Given the description of an element on the screen output the (x, y) to click on. 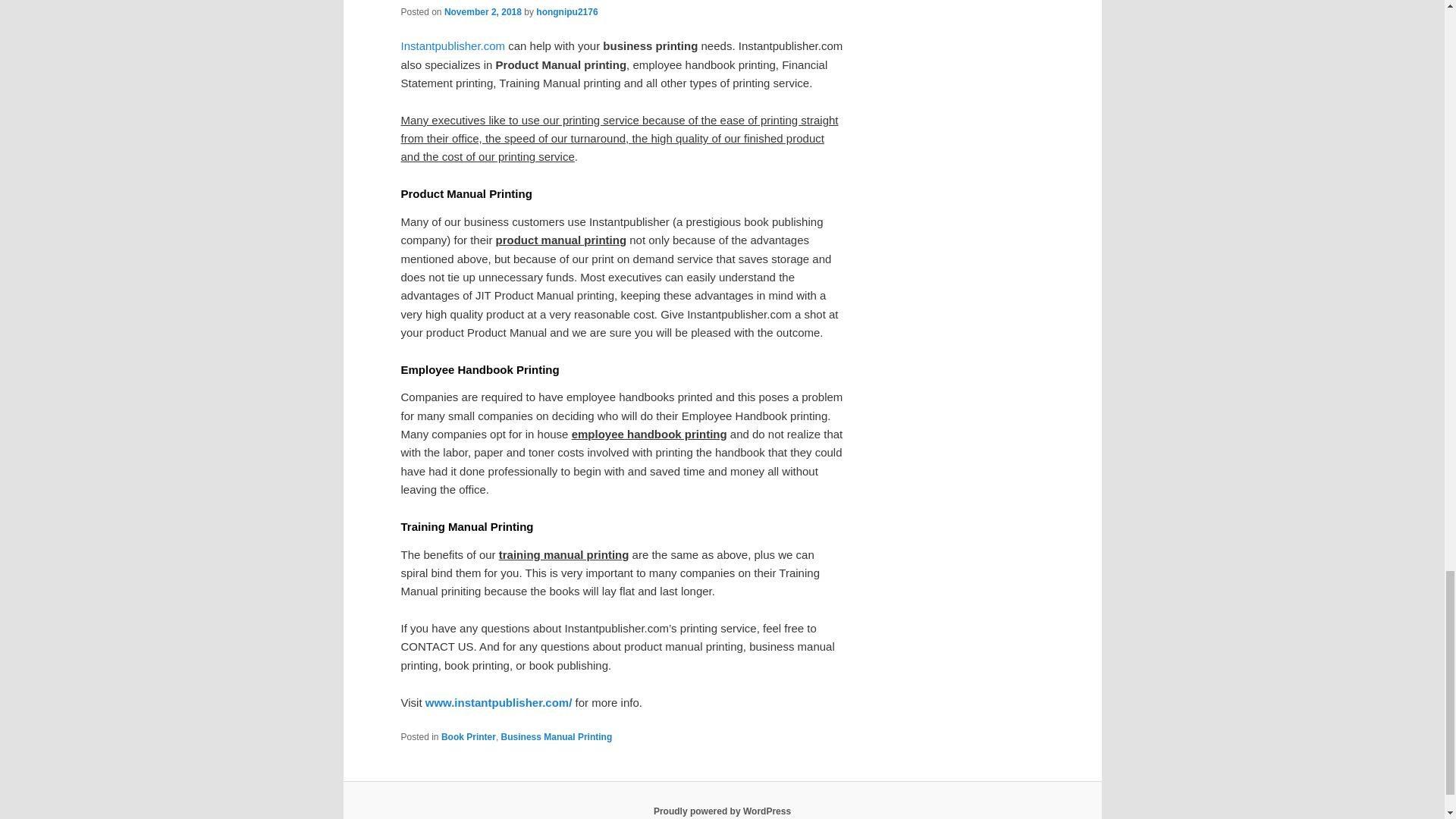
Semantic Personal Publishing Platform (721, 810)
View all posts by hongnipu2176 (565, 11)
Business Manual Printing (556, 737)
Book Printer (468, 737)
10:47 am (482, 11)
Instantpublisher.com (452, 45)
business manual printing (452, 45)
hongnipu2176 (565, 11)
November 2, 2018 (482, 11)
